Given the description of an element on the screen output the (x, y) to click on. 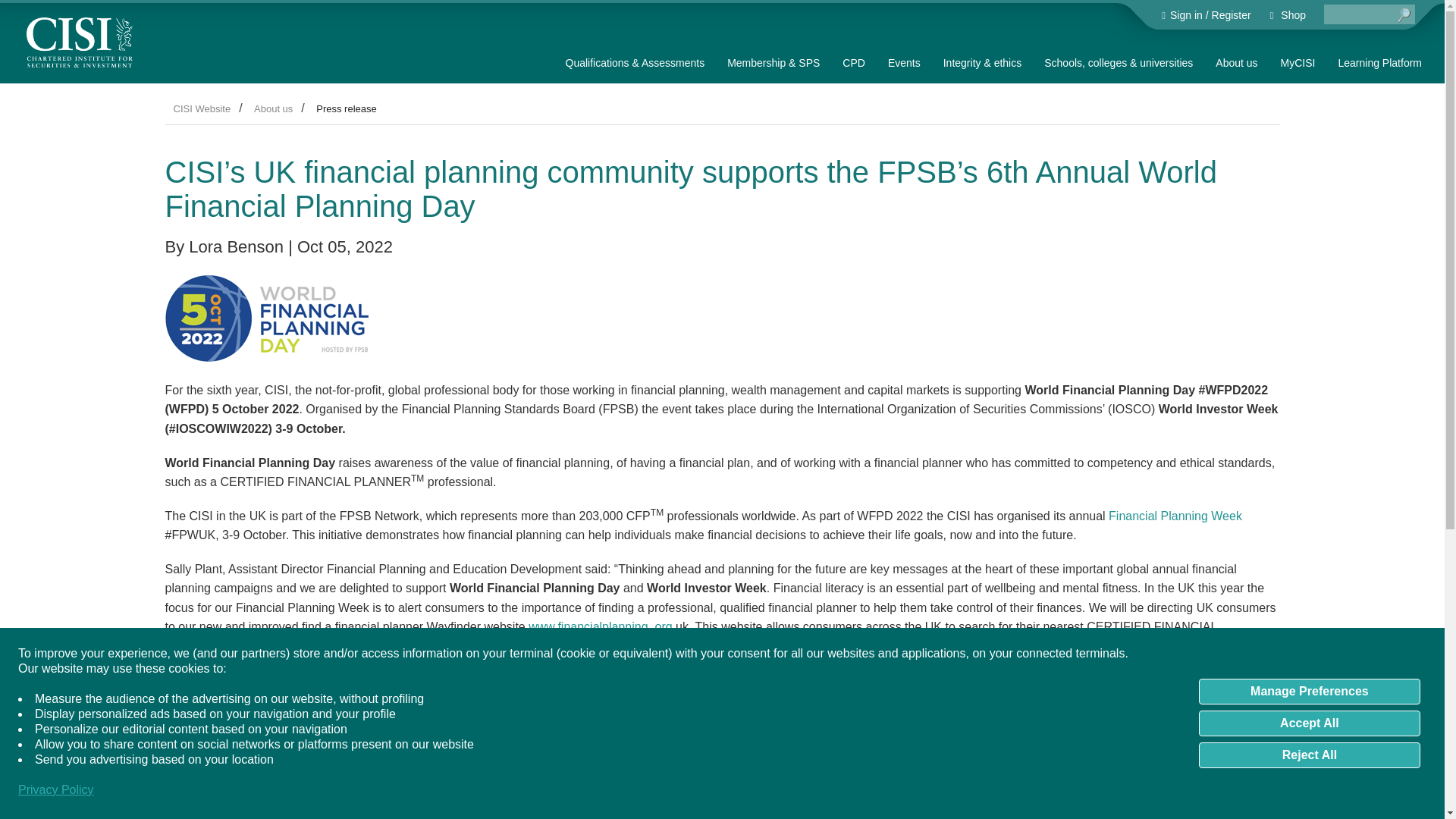
Sign in (1184, 14)
Manage Preferences (1309, 691)
Search (1404, 14)
Shop (1287, 14)
Reject All (1309, 755)
Accept All (1309, 723)
Privacy Policy (55, 789)
Register (1230, 14)
Search (1404, 14)
